Given the description of an element on the screen output the (x, y) to click on. 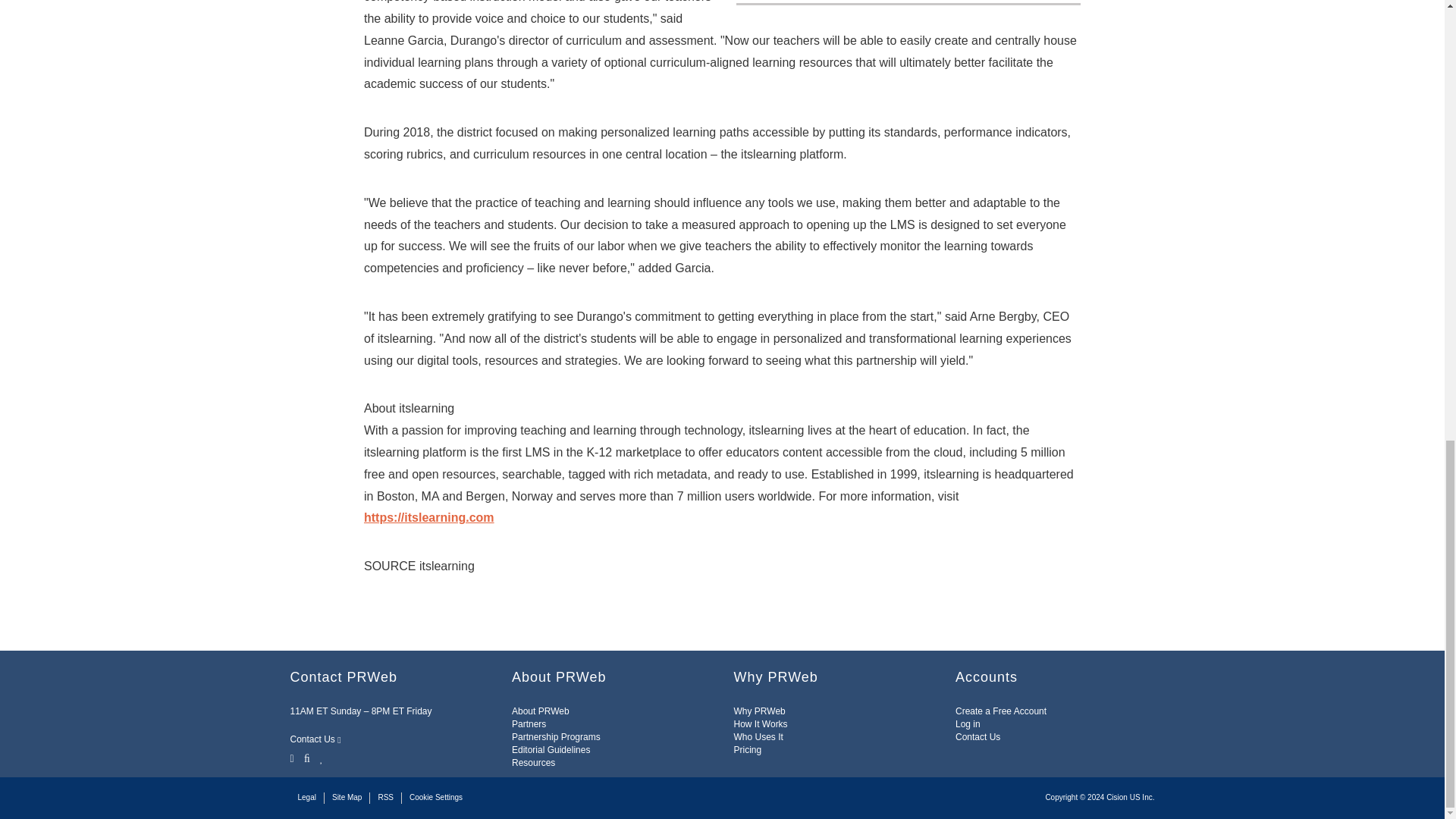
Partners (529, 724)
About PRWeb (540, 710)
Partnership Programs (555, 737)
Resources (533, 762)
Why PRWeb (759, 710)
Facebook (306, 757)
Editorial Guidelines (550, 749)
How It Works (760, 724)
Who Uses It (758, 737)
